Given the description of an element on the screen output the (x, y) to click on. 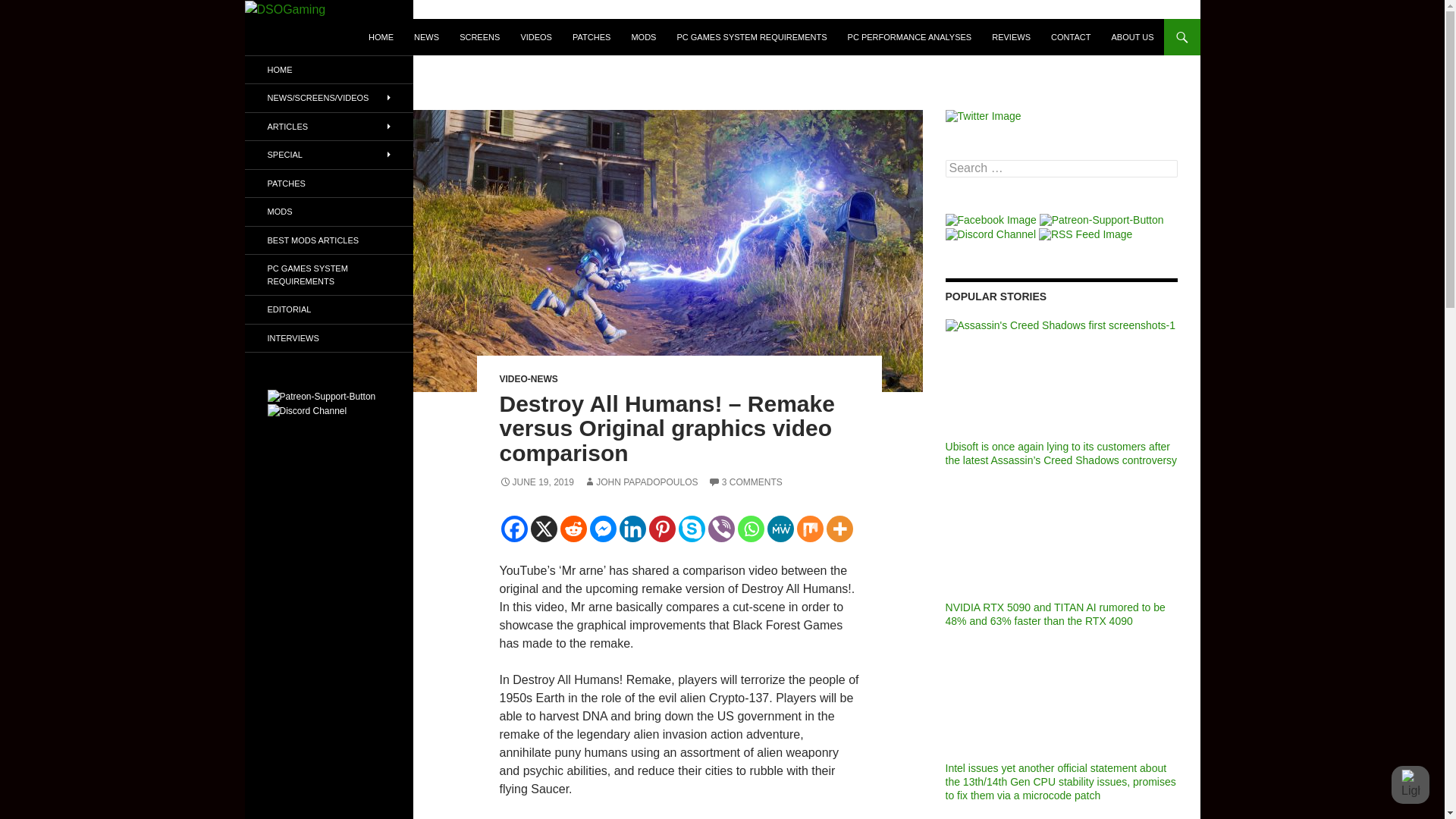
JOHN PAPADOPOULOS (640, 481)
NEWS (426, 36)
Reddit (572, 528)
Viber (721, 528)
PC GAMES SYSTEM REQUIREMENTS (750, 36)
PATCHES (591, 36)
CONTACT (1070, 36)
X (544, 528)
DSOGaming (306, 36)
SCREENS (478, 36)
3 COMMENTS (745, 481)
VIDEOS (535, 36)
MeWe (780, 528)
REVIEWS (1010, 36)
